Given the description of an element on the screen output the (x, y) to click on. 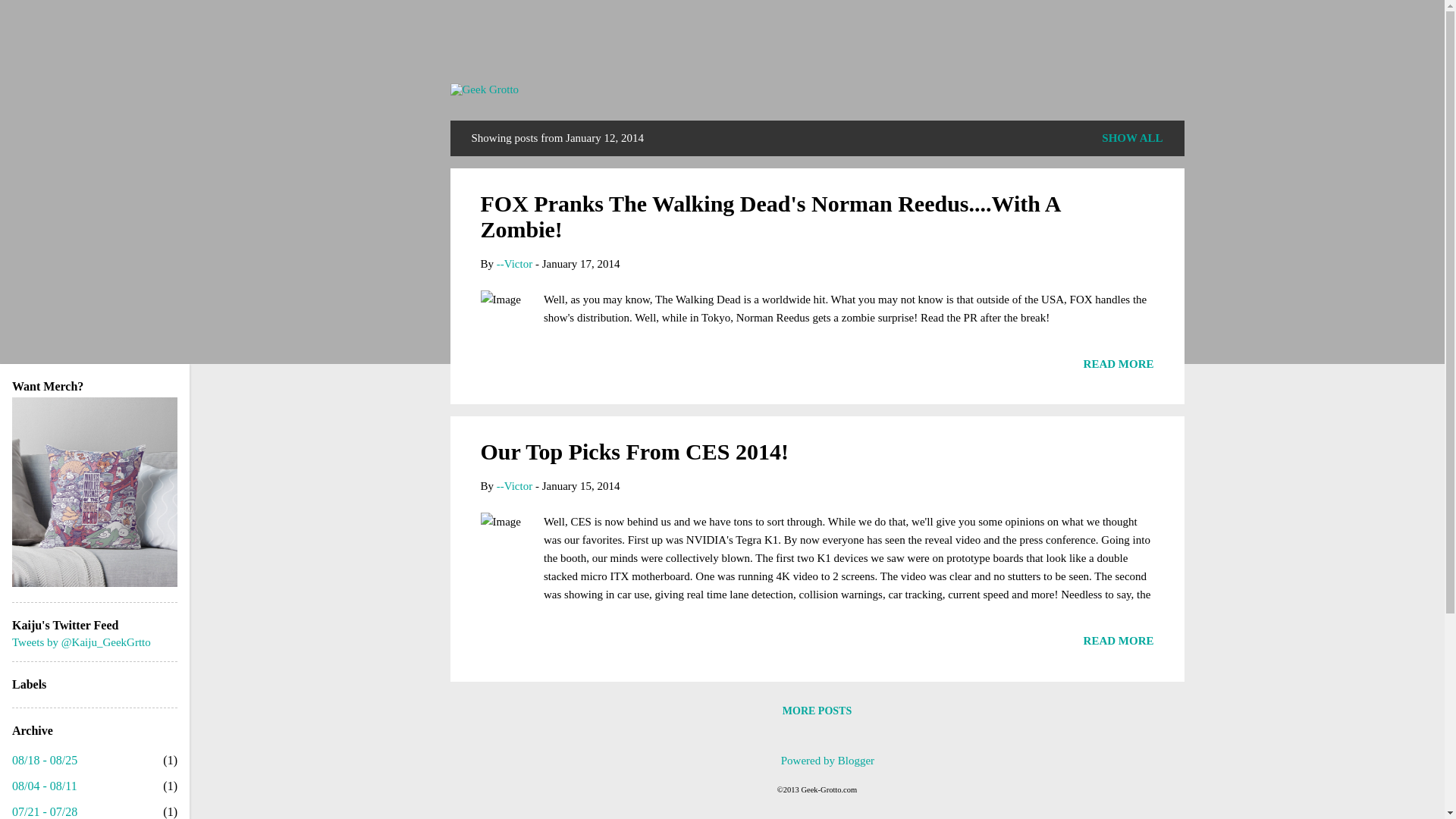
Email Post (489, 369)
--Victor (514, 485)
January 17, 2014 (580, 263)
READ MORE (1118, 363)
Our Top Picks From CES 2014! (634, 451)
Search (29, 18)
READ MORE (1118, 640)
SHOW ALL (1132, 138)
MORE POSTS (816, 711)
